Given the description of an element on the screen output the (x, y) to click on. 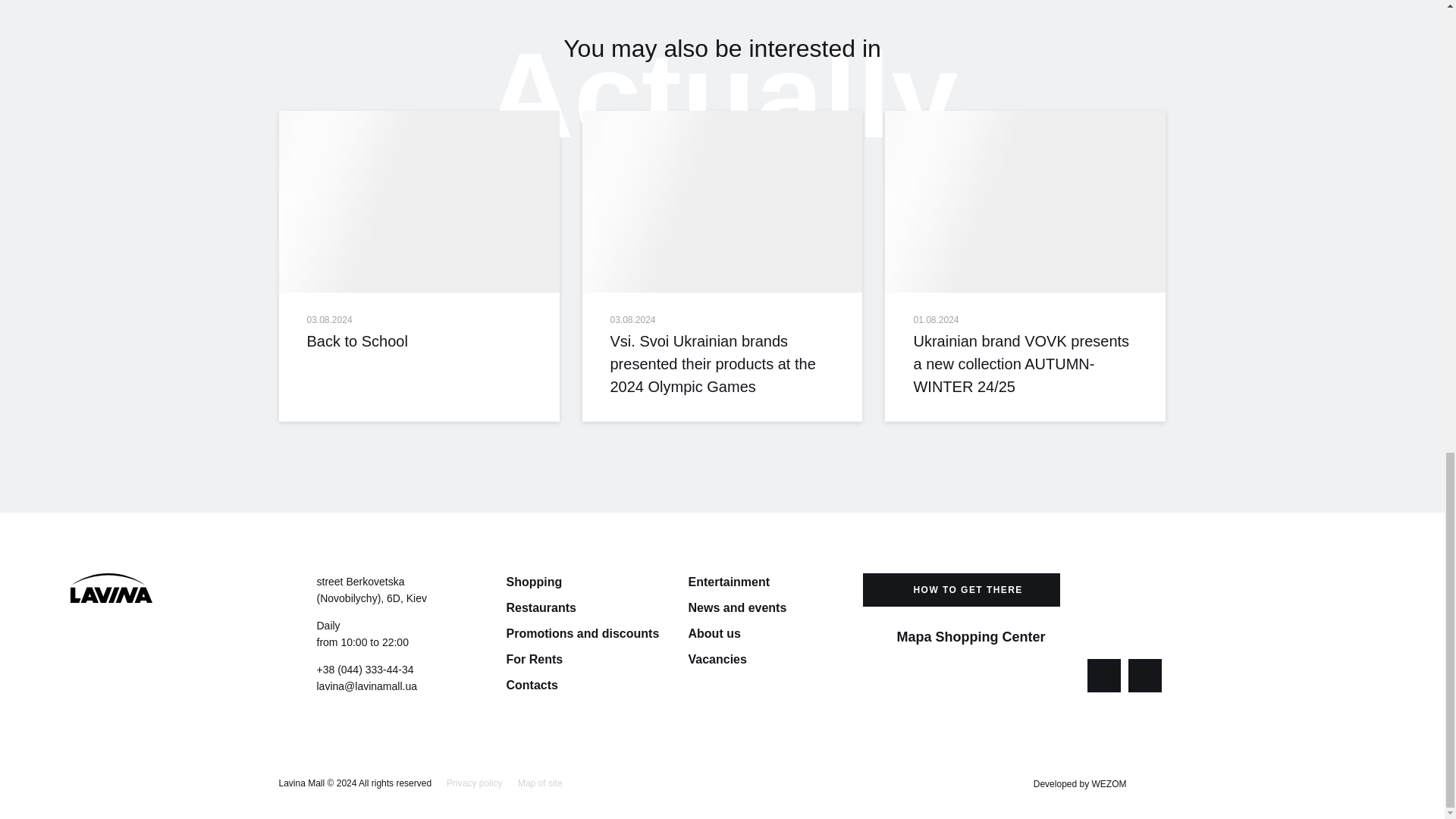
Back to School (418, 341)
Go to page Facebook (1104, 675)
Go to page Instagram (1144, 675)
Back to School (419, 201)
